Given the description of an element on the screen output the (x, y) to click on. 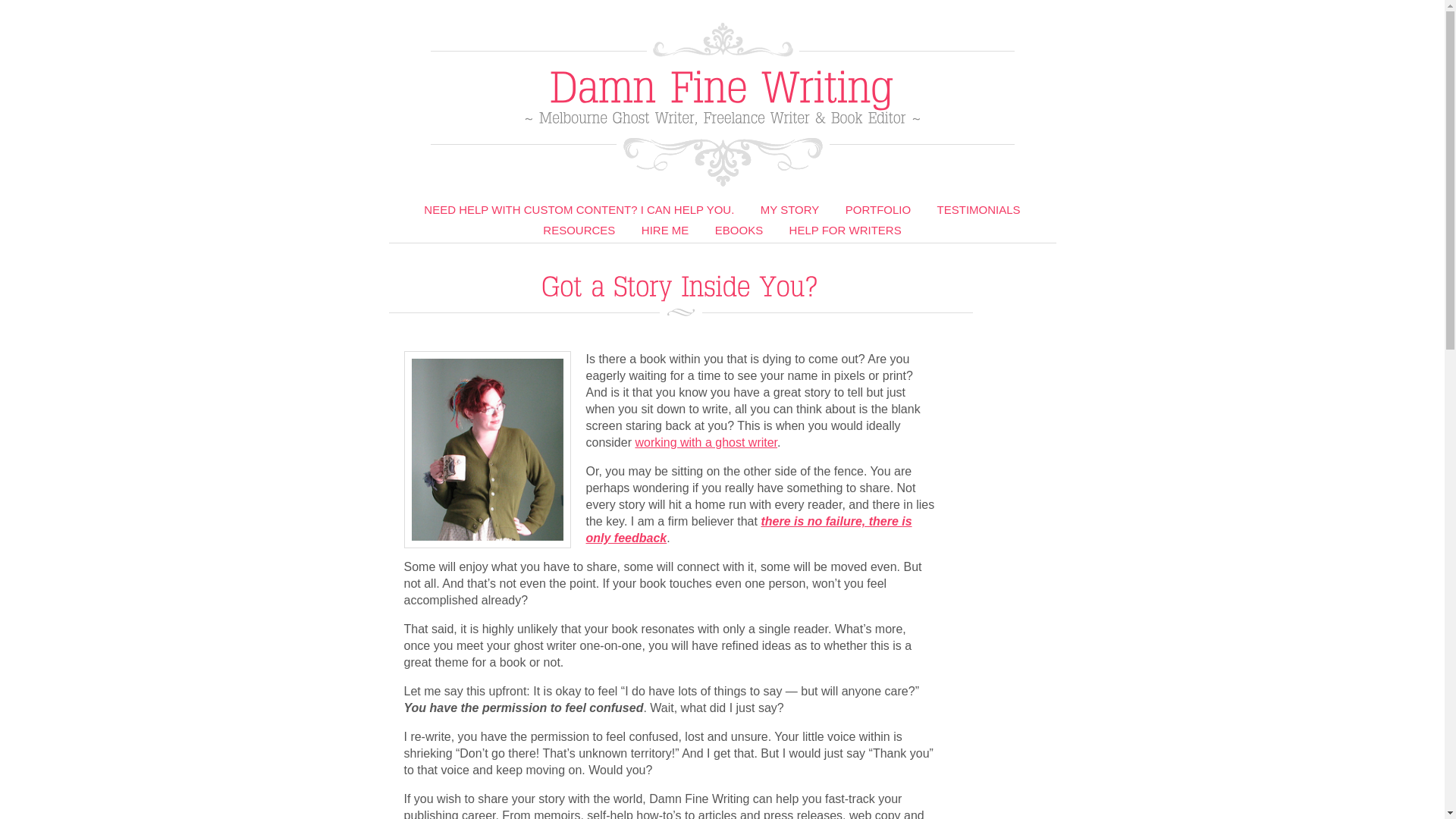
HELP FOR WRITERS Element type: text (845, 232)
there is no failure, there is only feedback Element type: text (748, 529)
Got a story inside you Element type: hover (486, 449)
TESTIMONIALS Element type: text (978, 211)
EBOOKS Element type: text (738, 232)
RESOURCES Element type: text (578, 232)
HIRE ME Element type: text (665, 232)
PORTFOLIO Element type: text (877, 211)
Permanent Link to Got a Story Inside You? Element type: hover (680, 284)
MY STORY Element type: text (789, 211)
NEED HELP WITH CUSTOM CONTENT? I CAN HELP YOU. Element type: text (578, 211)
working with a ghost writer Element type: text (705, 442)
